Given the description of an element on the screen output the (x, y) to click on. 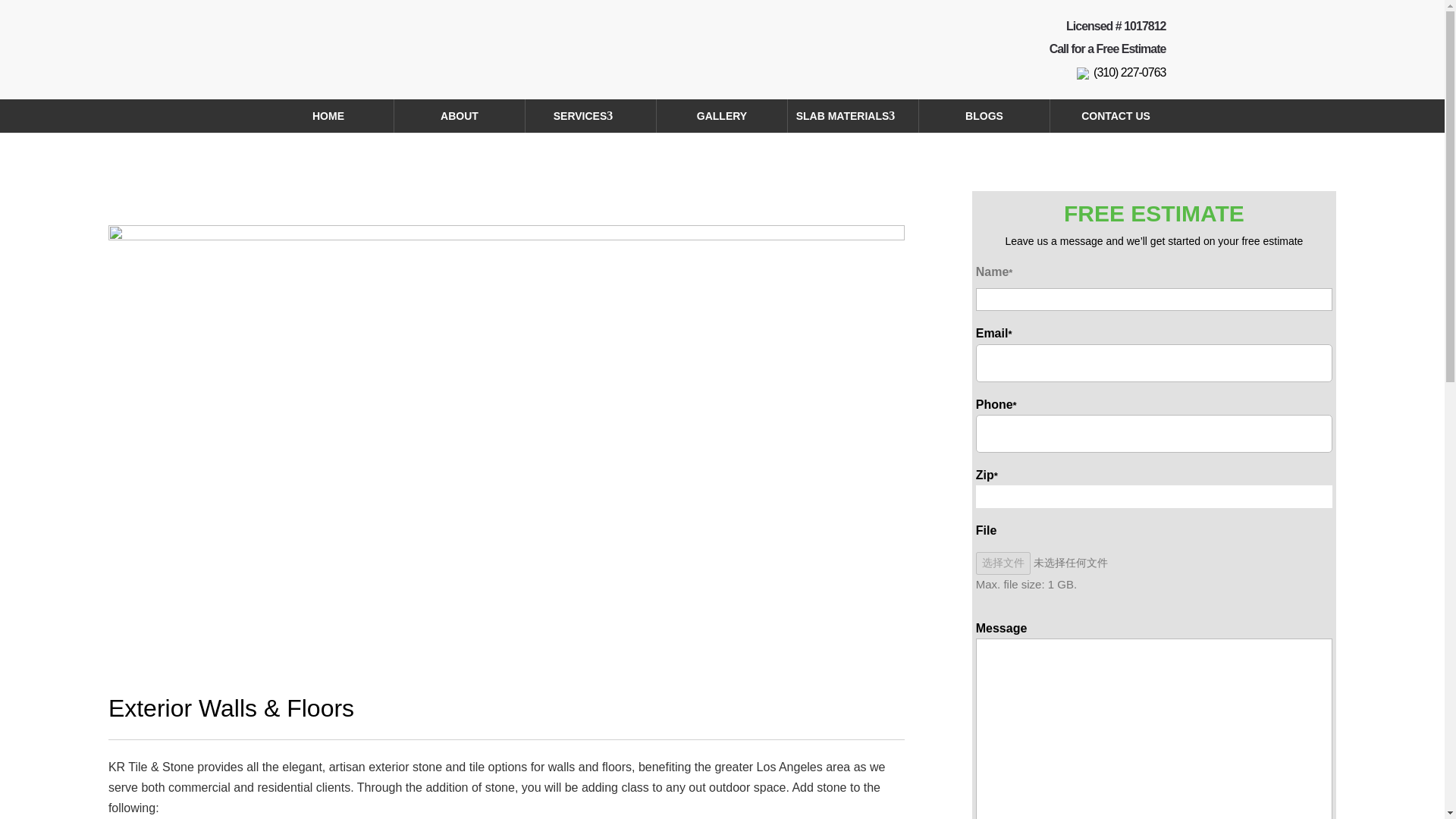
BLOGS (983, 115)
HOME (328, 115)
SLAB MATERIALS (852, 115)
ABOUT (459, 115)
SERVICES (590, 115)
CONTACT US (1114, 115)
GALLERY (721, 115)
